Given the description of an element on the screen output the (x, y) to click on. 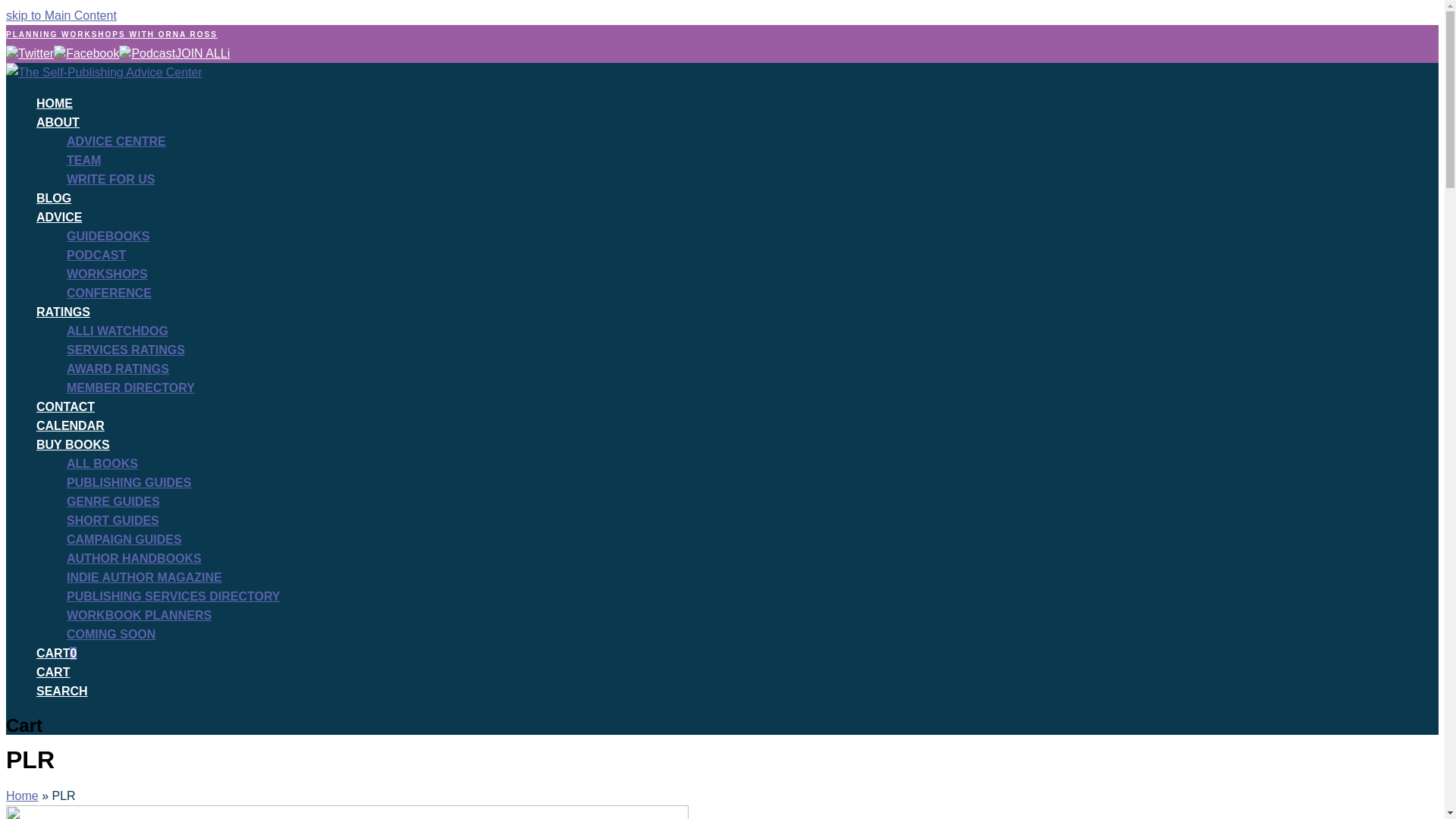
JOIN ALLi (202, 52)
ALL BOOKS (102, 463)
PODCAST (95, 254)
GENRE GUIDES (113, 501)
WORKSHOPS (107, 273)
PUBLISHING GUIDES (128, 481)
AWARD RATINGS (117, 368)
WORKBOOK PLANNERS (138, 615)
BUY BOOKS (73, 444)
CART0 (56, 653)
